Given the description of an element on the screen output the (x, y) to click on. 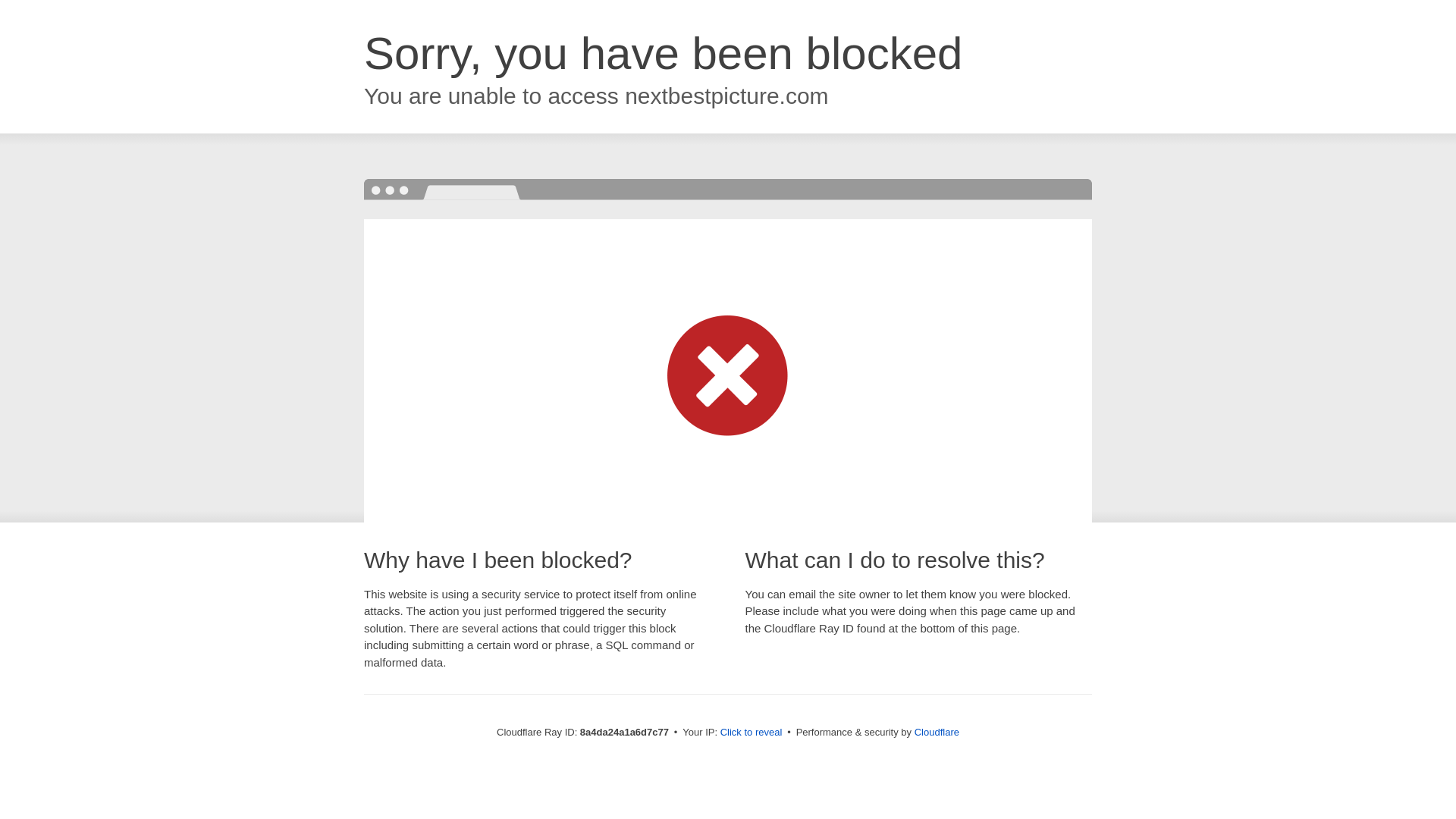
Click to reveal (751, 732)
Cloudflare (936, 731)
